Given the description of an element on the screen output the (x, y) to click on. 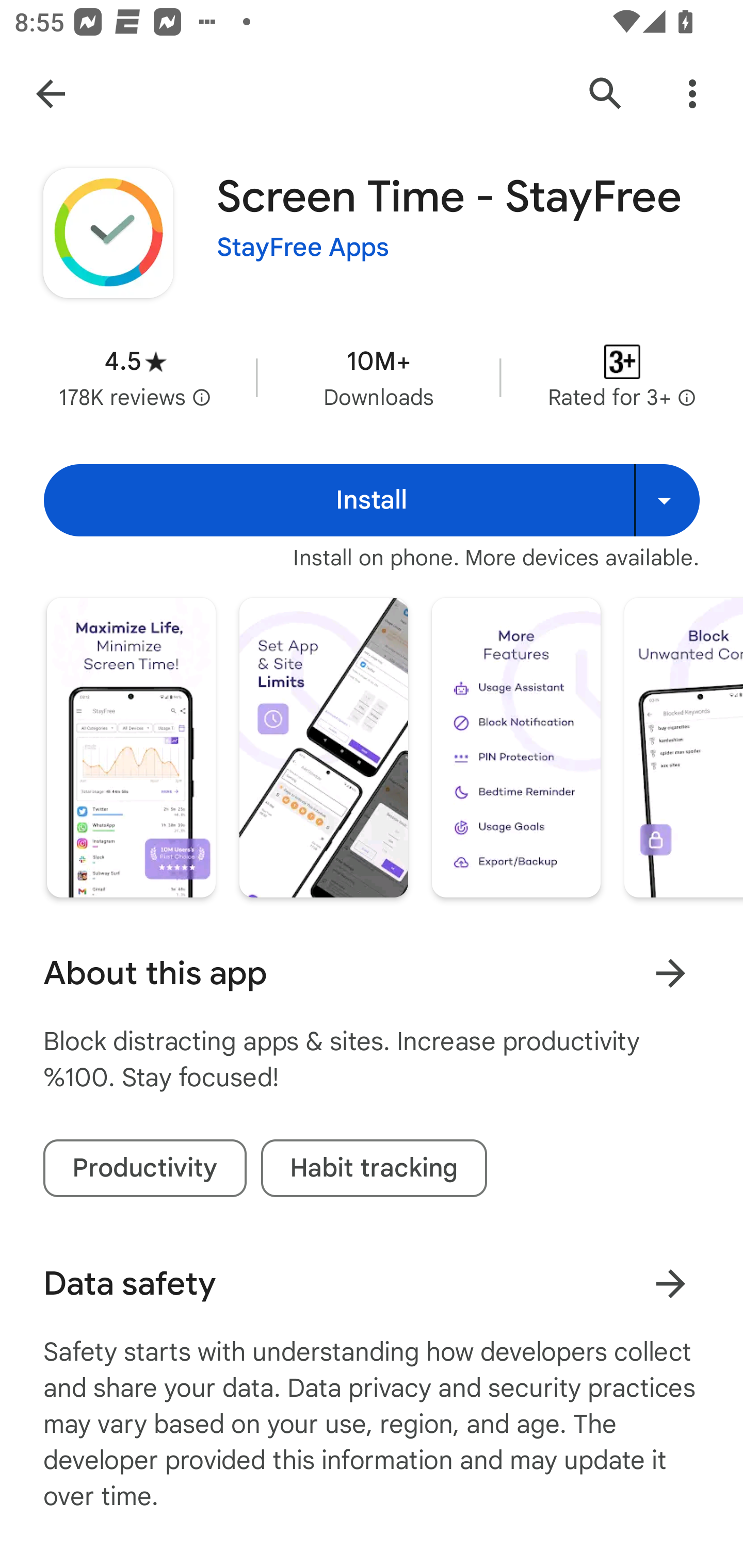
Navigate up (50, 93)
Search Google Play (605, 93)
More Options (692, 93)
StayFree Apps (302, 247)
Average rating 4.5 stars in 178 thousand reviews (135, 377)
Content rating Rated for 3+ (622, 377)
Install Install Install on more devices (371, 500)
Install on more devices (667, 500)
Screenshot "1" of "7" (130, 746)
Screenshot "2" of "7" (323, 746)
Screenshot "3" of "7" (515, 746)
About this app Learn more About this app (371, 972)
Learn more About this app (670, 972)
Productivity tag (144, 1168)
Habit tracking tag (373, 1168)
Data safety Learn more about data safety (371, 1284)
Learn more about data safety (670, 1283)
